Given the description of an element on the screen output the (x, y) to click on. 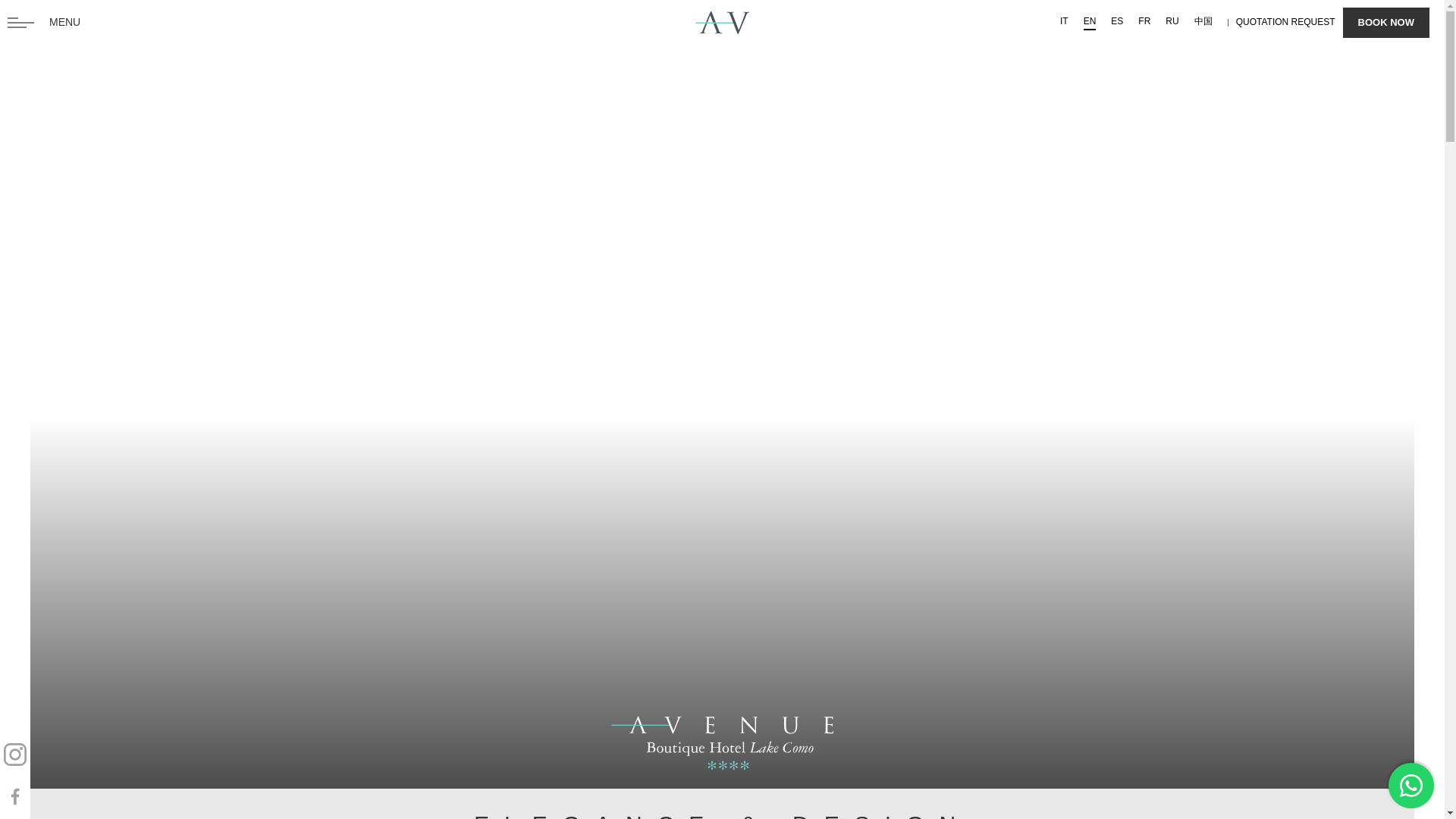
FR (1144, 22)
BOOK NOW (1298, 22)
QUOTATION REQUEST (1285, 21)
BOOK NOW (1385, 22)
EN (1089, 22)
ES (1117, 22)
IT (1063, 22)
RU (1171, 22)
